Given the description of an element on the screen output the (x, y) to click on. 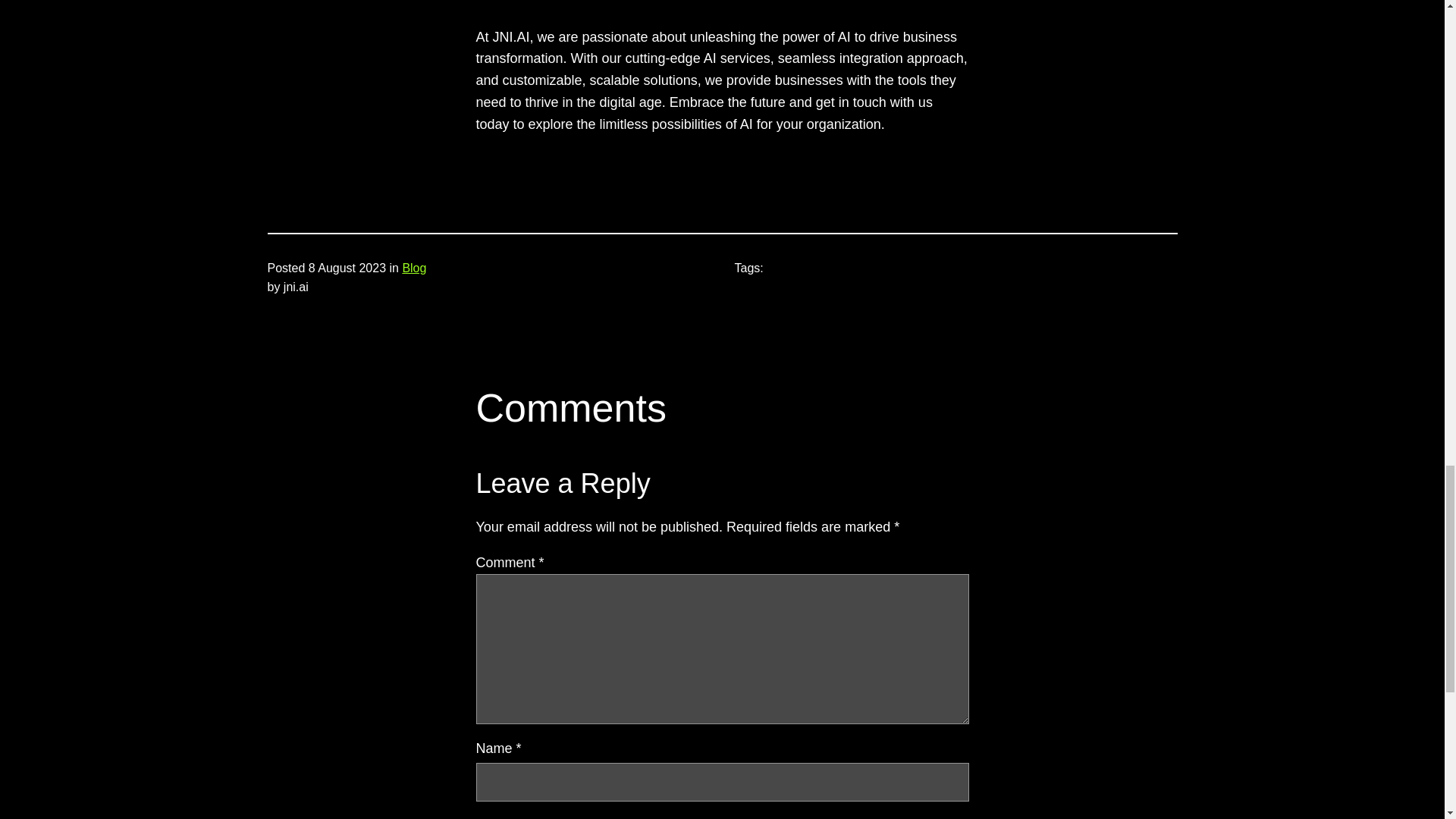
Blog (413, 267)
